Given the description of an element on the screen output the (x, y) to click on. 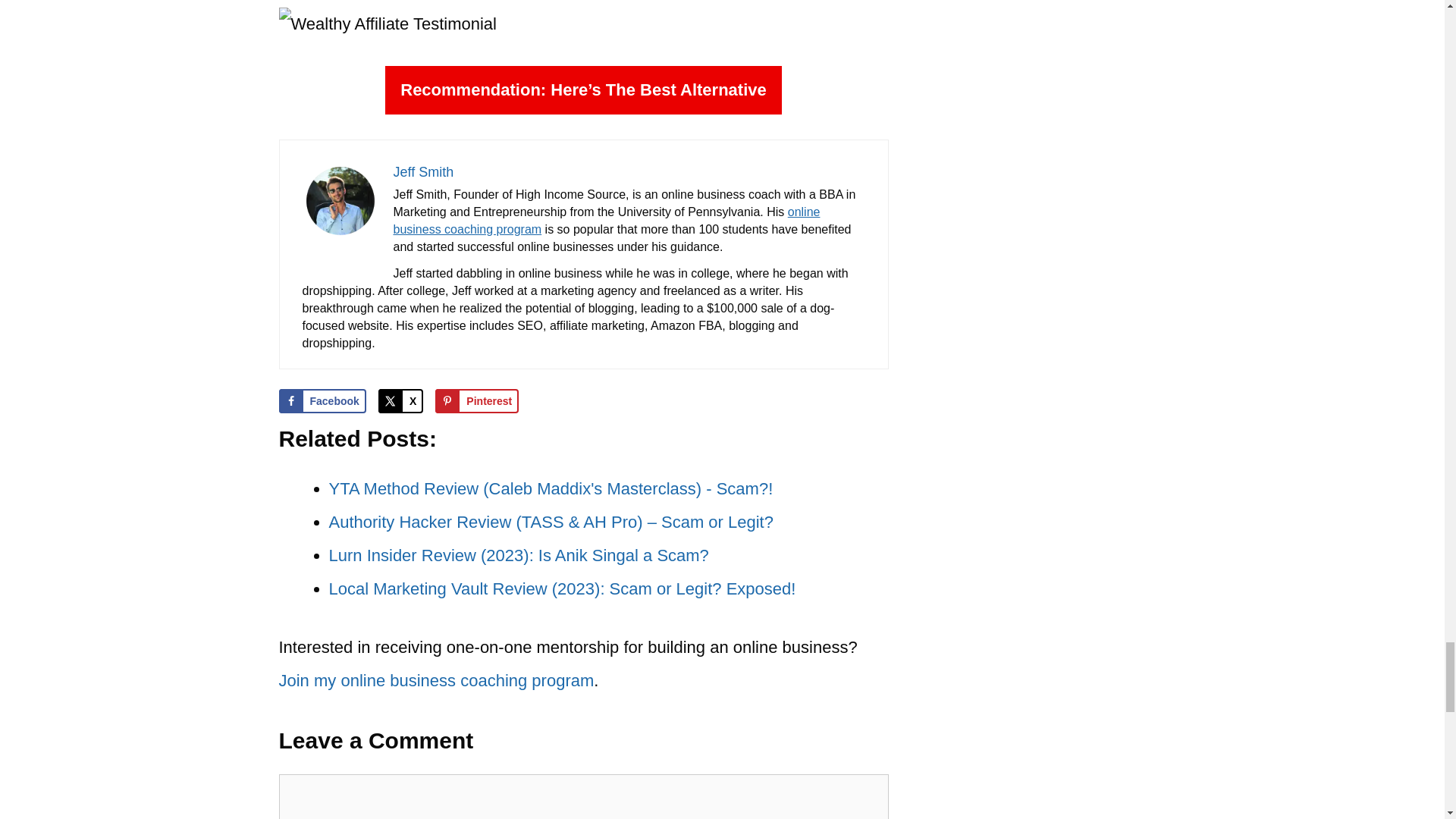
Facebook (322, 401)
Save to Pinterest (476, 401)
Jeff Smith (422, 171)
Jeff Smith Avatar (339, 232)
Wealthy Affiliate Testimonial (387, 23)
Share on X (400, 401)
online business coaching program (606, 220)
Share on Facebook (322, 401)
X (400, 401)
Pinterest (476, 401)
